Given the description of an element on the screen output the (x, y) to click on. 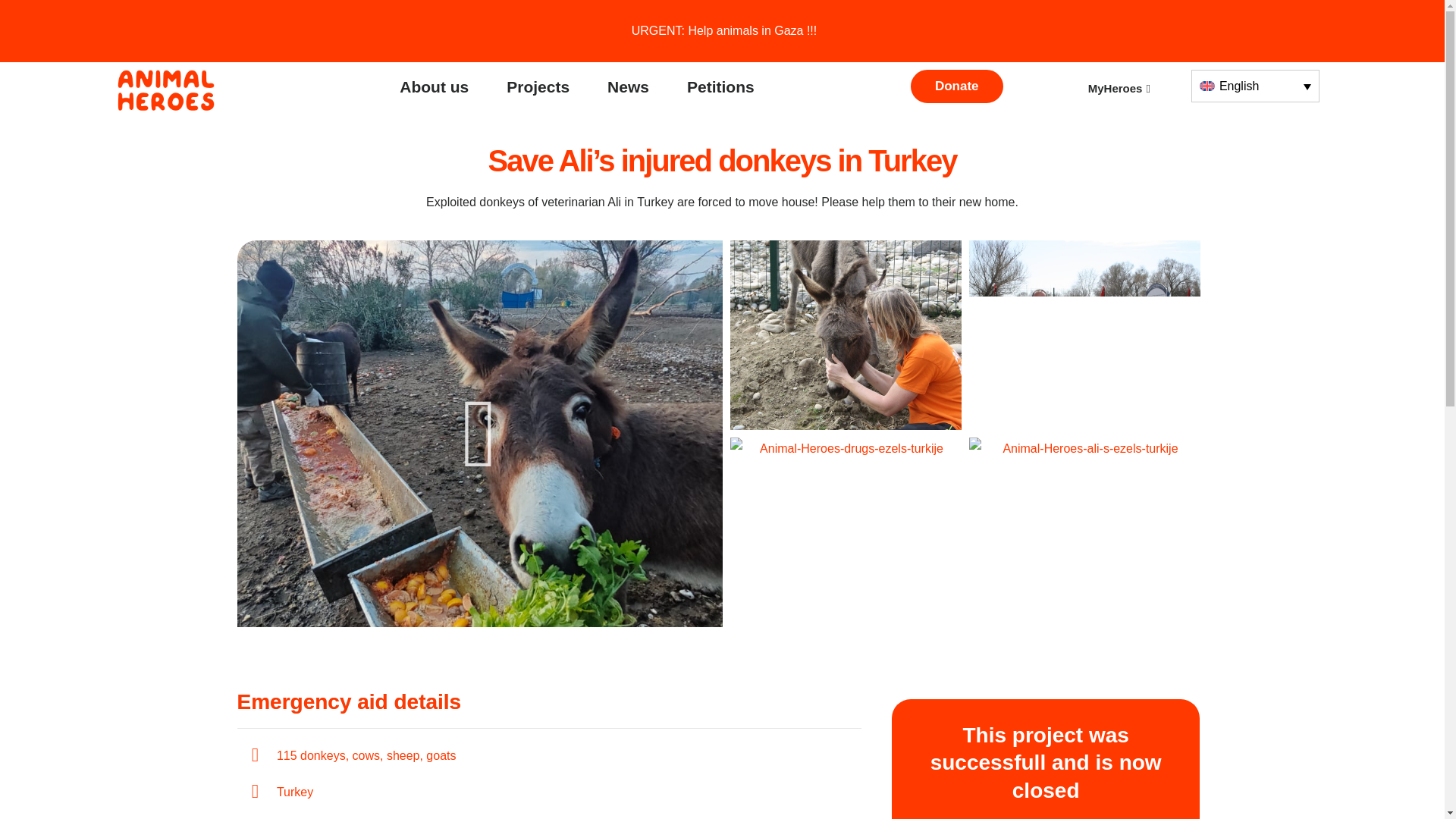
Projects (537, 86)
Petitions (720, 86)
URGENT: Help animals in Gaza !!! (721, 30)
About us (433, 86)
News (628, 86)
